Given the description of an element on the screen output the (x, y) to click on. 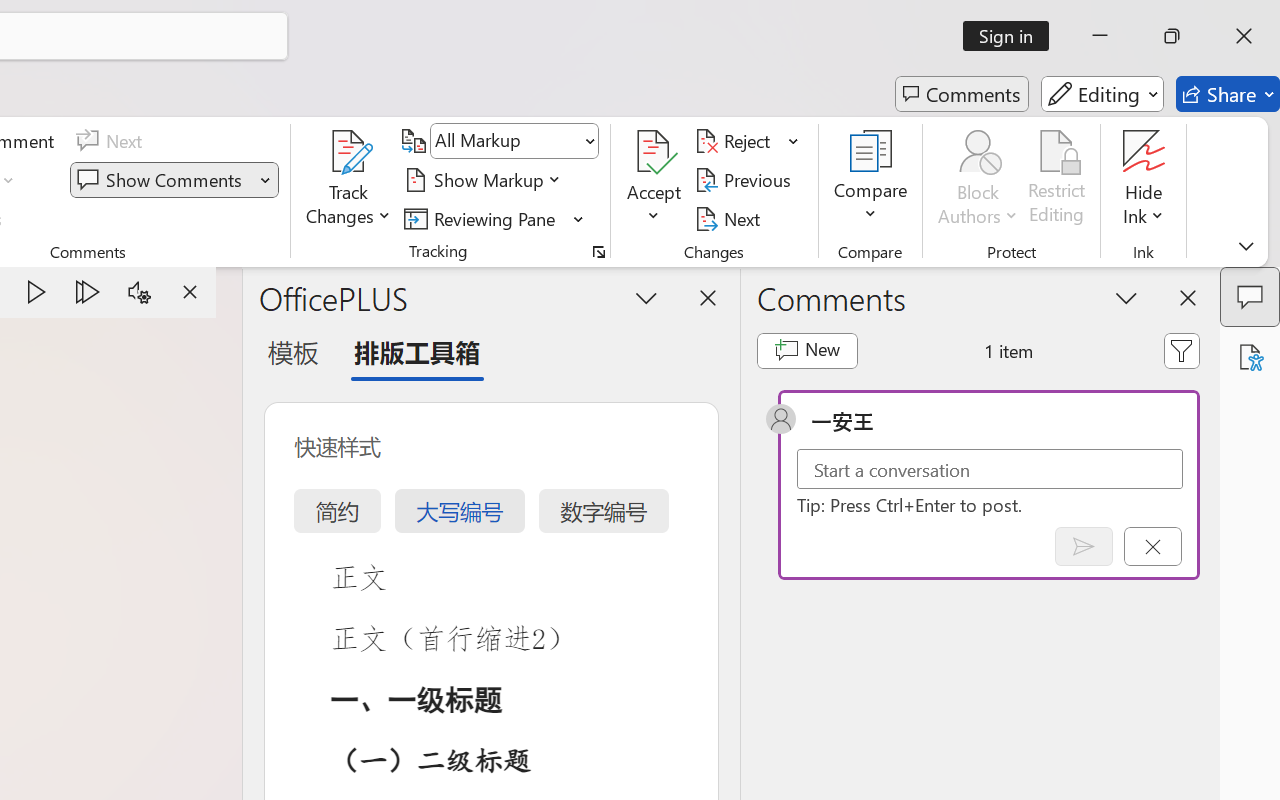
Play (36, 292)
Show Comments (174, 179)
Restrict Editing (1057, 179)
Next Paragraph (87, 292)
Display for Review (514, 141)
